Given the description of an element on the screen output the (x, y) to click on. 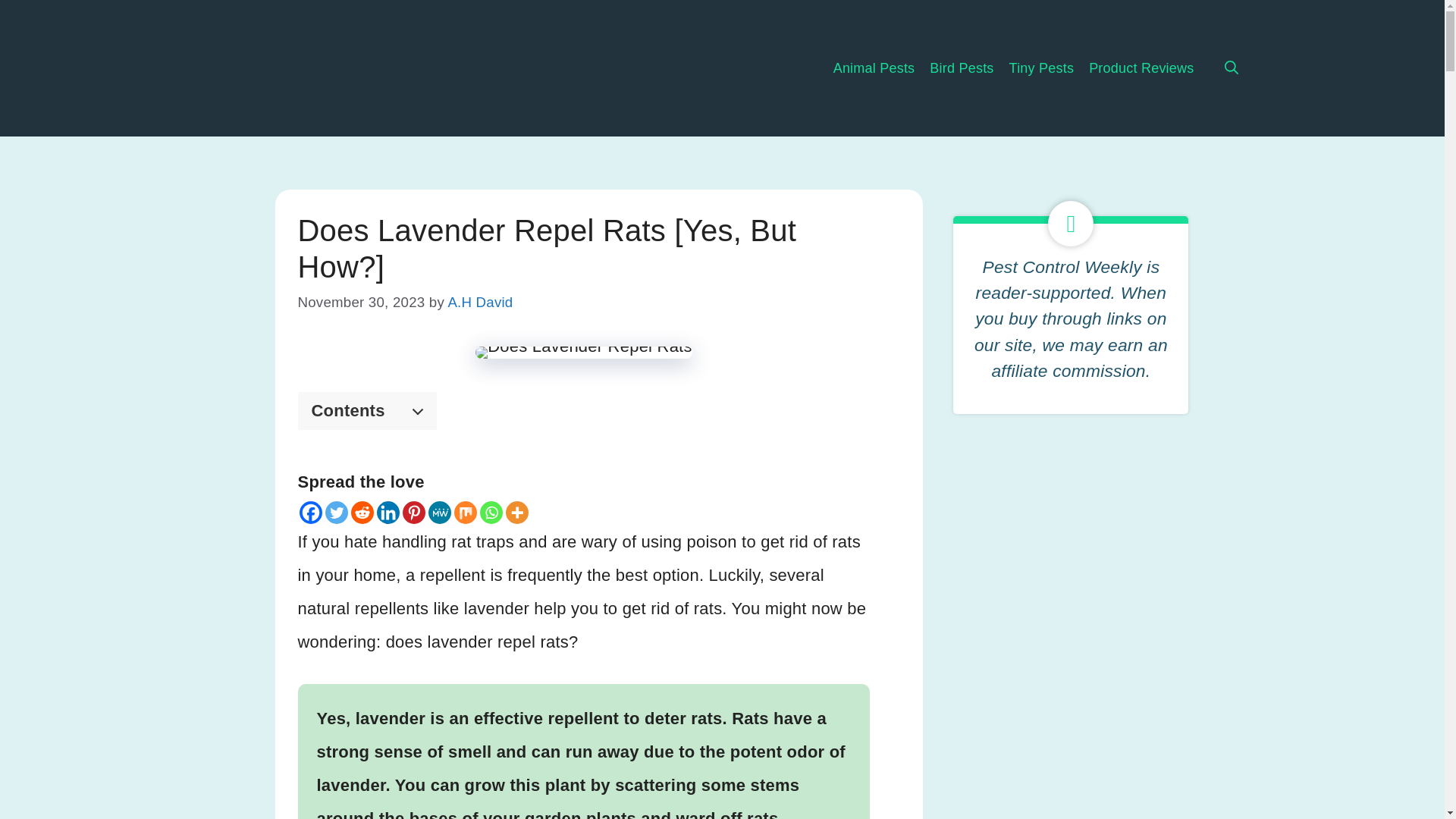
Bird Pests (953, 67)
View all posts by A.H David (479, 302)
Product Reviews (1141, 67)
Tiny Pests (1034, 67)
Animal Pests (866, 67)
A.H David (479, 302)
Facebook (309, 512)
Pest Control Weekly (315, 68)
